Given the description of an element on the screen output the (x, y) to click on. 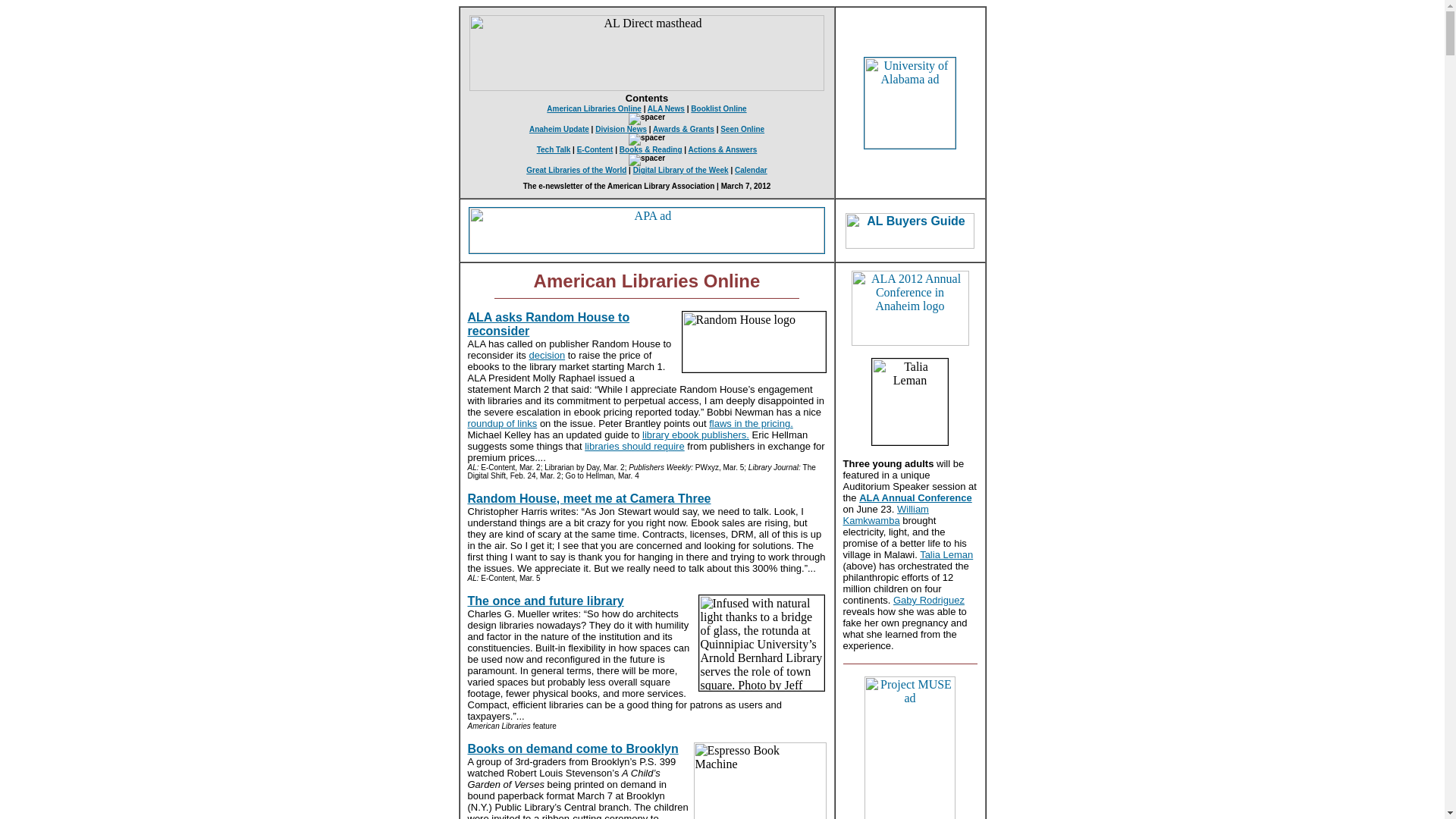
Tech Talk (553, 149)
Books on demand come to Brooklyn (572, 748)
decision (546, 355)
AL Buyers Guide (909, 230)
Booklist Online (717, 108)
Great Libraries of the World (575, 170)
Anaheim Update (559, 129)
E-Content (594, 149)
Espresso Book Machine (759, 780)
The once and future library (545, 600)
APA ad (646, 230)
American Libraries Online (594, 108)
library ebook publishers. (695, 434)
flaws in the pricing. (751, 423)
Calendar (751, 170)
